Given the description of an element on the screen output the (x, y) to click on. 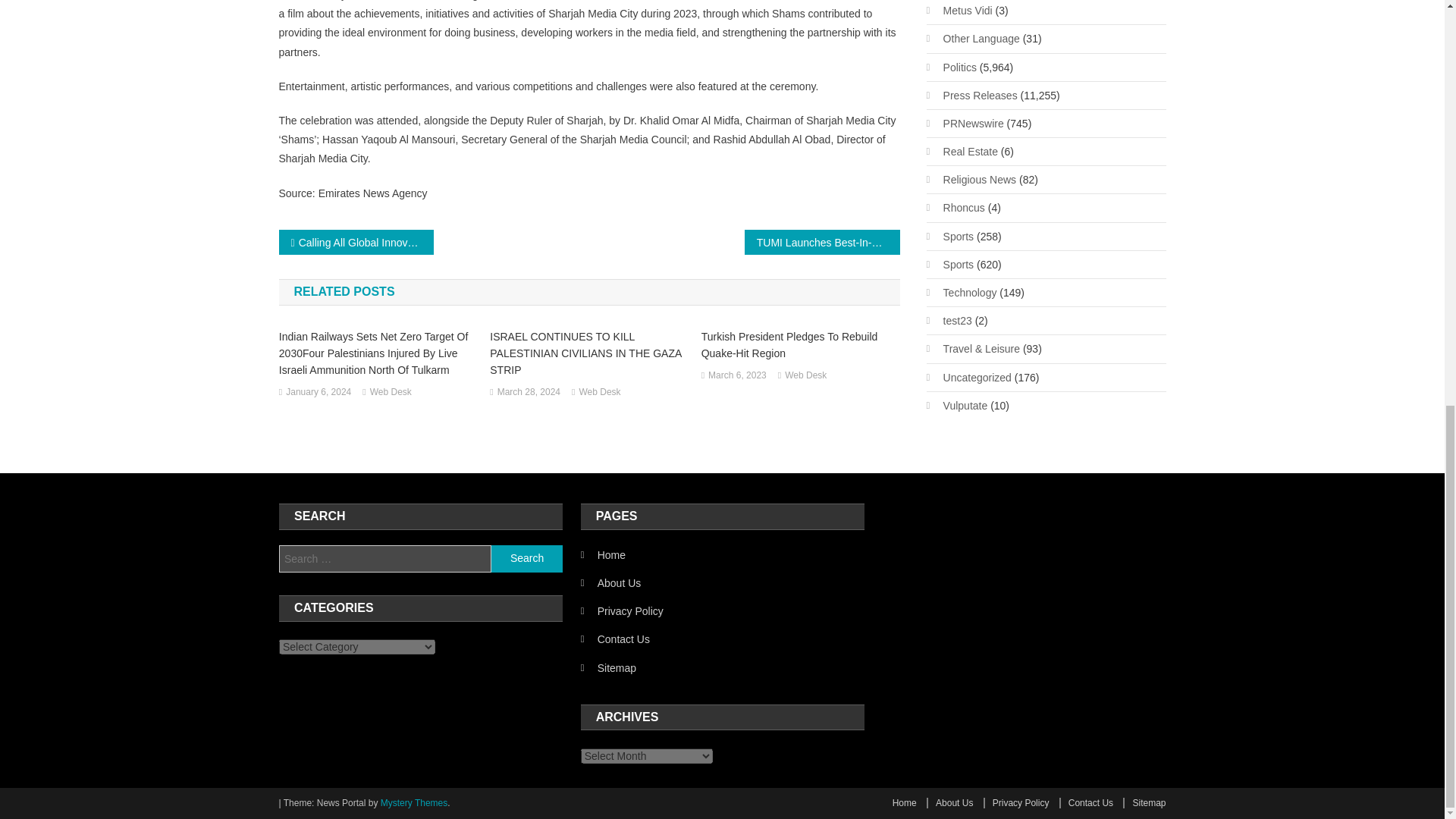
TUMI Launches Best-In-Class Golf Collection (821, 242)
Turkish President Pledges To Rebuild Quake-Hit Region (800, 344)
March 28, 2024 (528, 392)
Web Desk (599, 392)
January 6, 2024 (317, 392)
Search (527, 558)
Web Desk (805, 375)
Search (527, 558)
March 6, 2023 (737, 375)
Web Desk (390, 392)
